Given the description of an element on the screen output the (x, y) to click on. 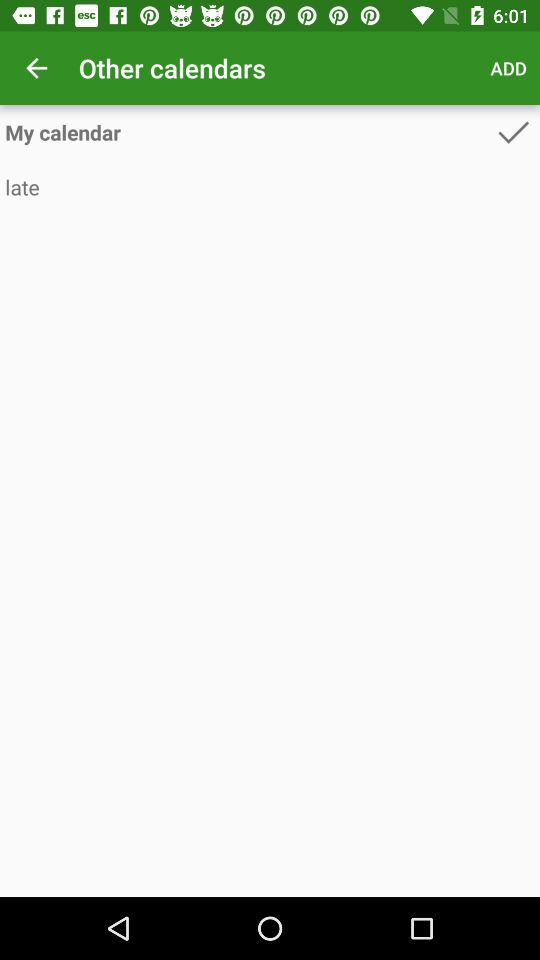
press the item above my calendar (36, 68)
